Given the description of an element on the screen output the (x, y) to click on. 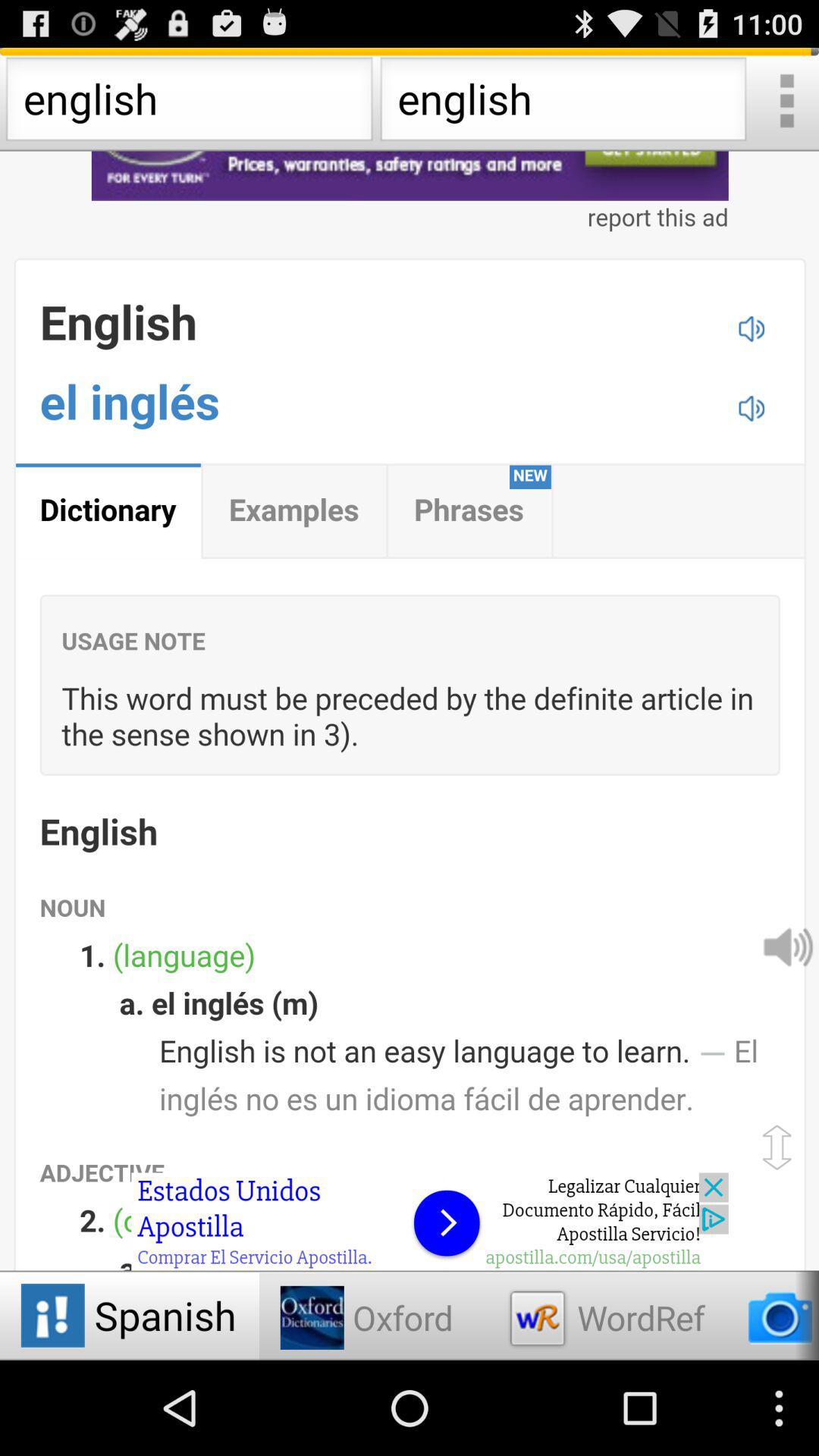
read definition aloud (787, 945)
